Given the description of an element on the screen output the (x, y) to click on. 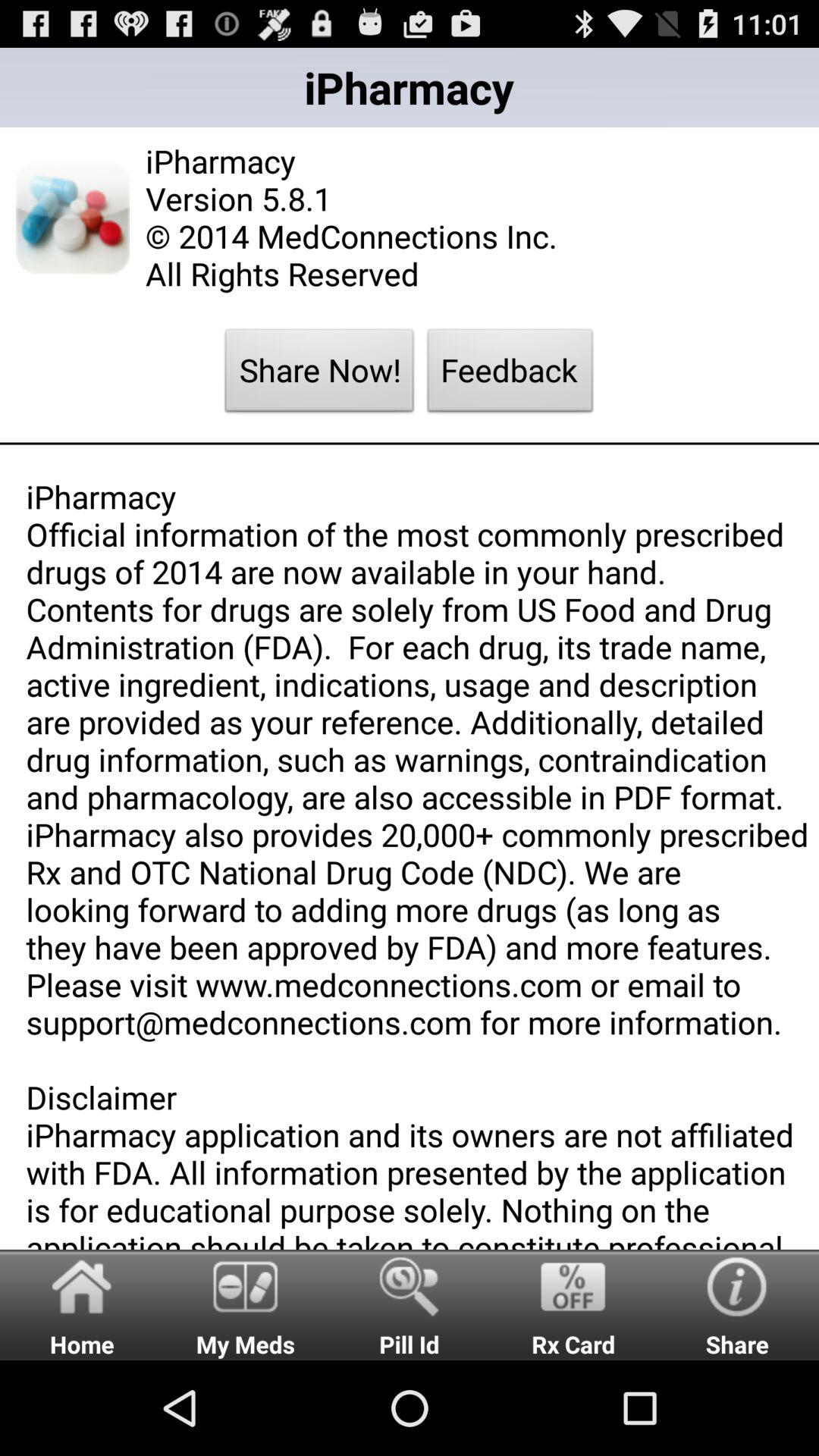
select item next to rx card item (409, 1304)
